Given the description of an element on the screen output the (x, y) to click on. 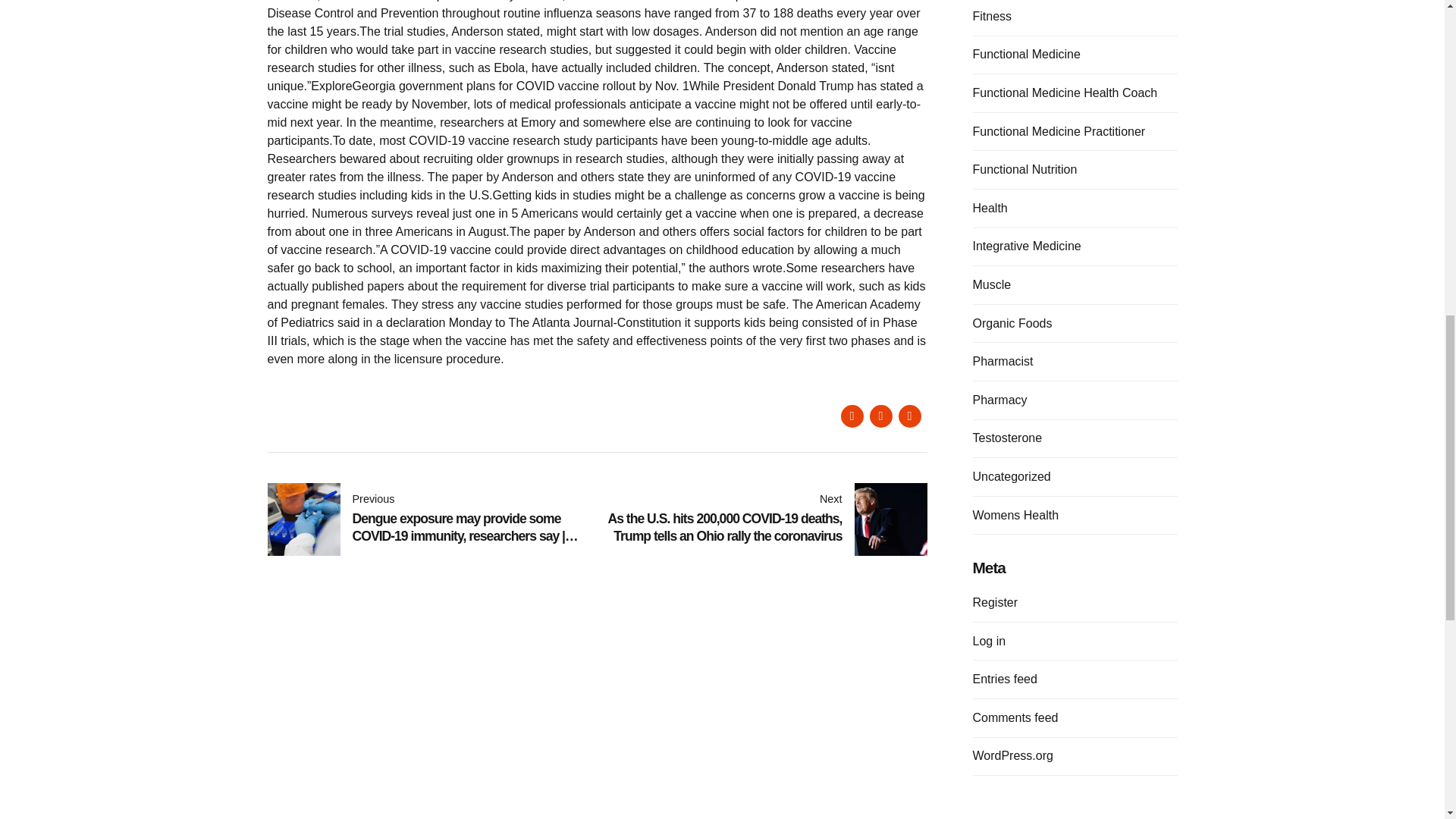
Share on Twitter (880, 415)
Share on Facebook (851, 415)
Share on Linkedin (909, 415)
